Given the description of an element on the screen output the (x, y) to click on. 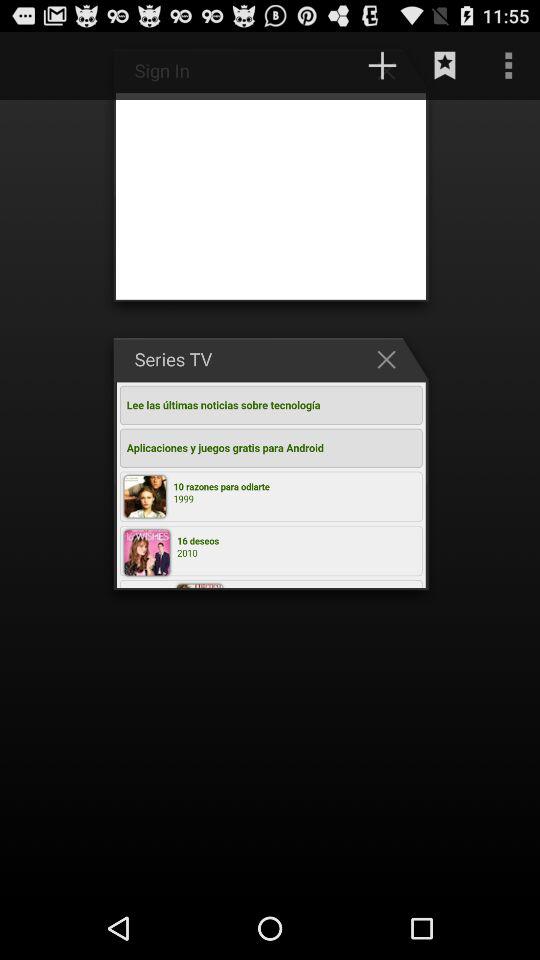
turn on the item above series tv item (381, 65)
